Given the description of an element on the screen output the (x, y) to click on. 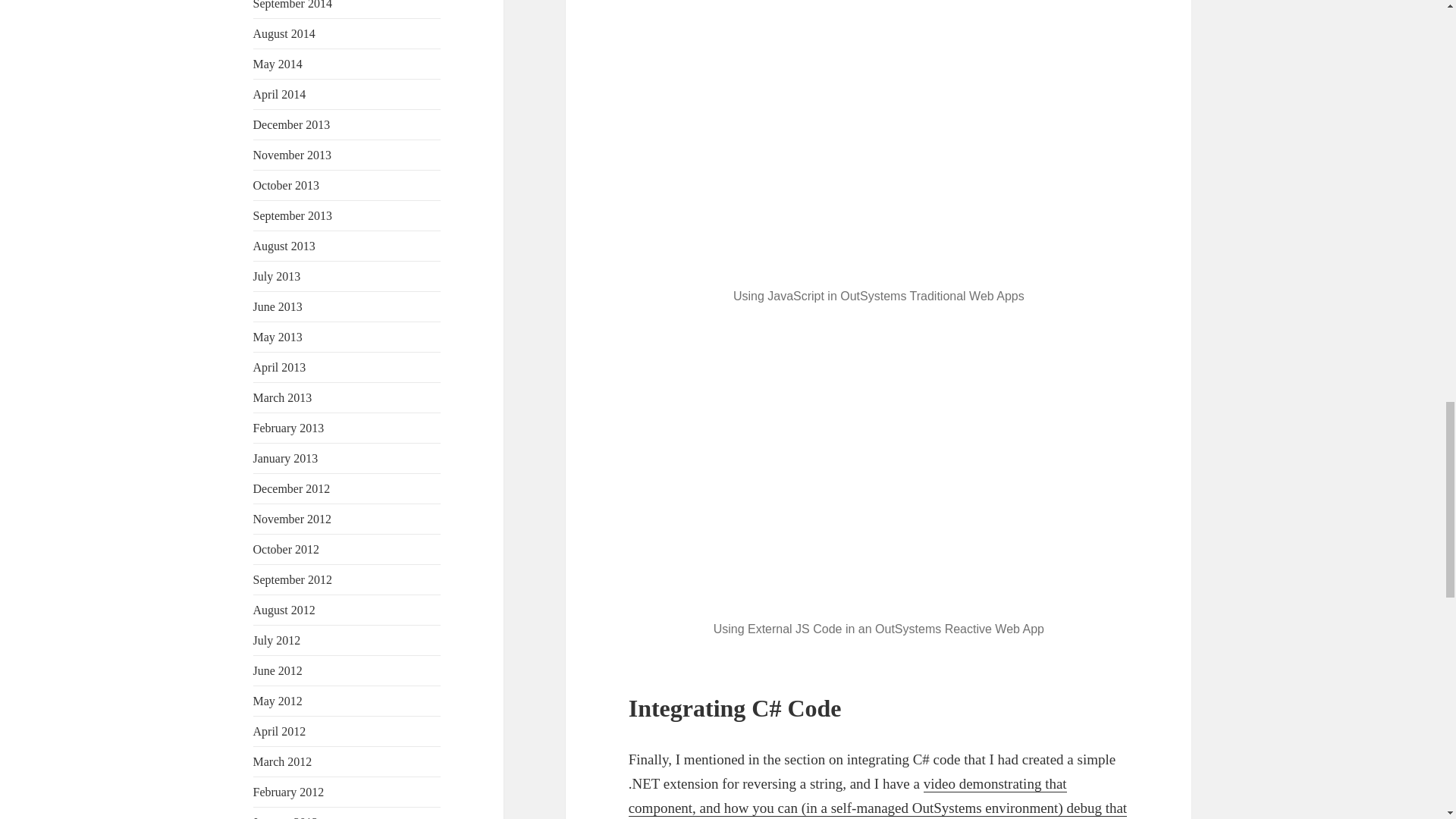
September 2014 (292, 4)
August 2014 (284, 33)
